Given the description of an element on the screen output the (x, y) to click on. 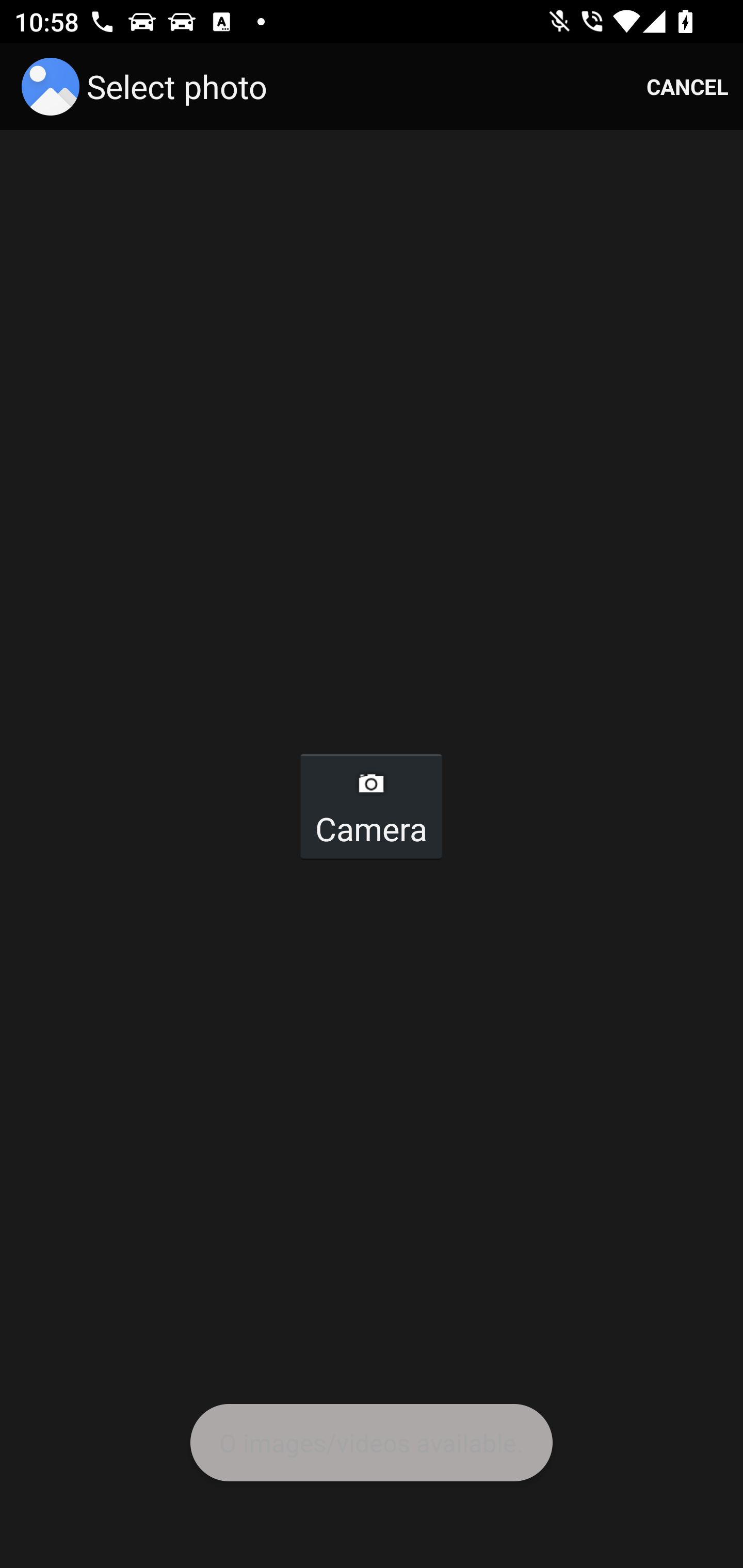
Select photo (148, 86)
CANCEL (687, 86)
Camera (370, 805)
